Given the description of an element on the screen output the (x, y) to click on. 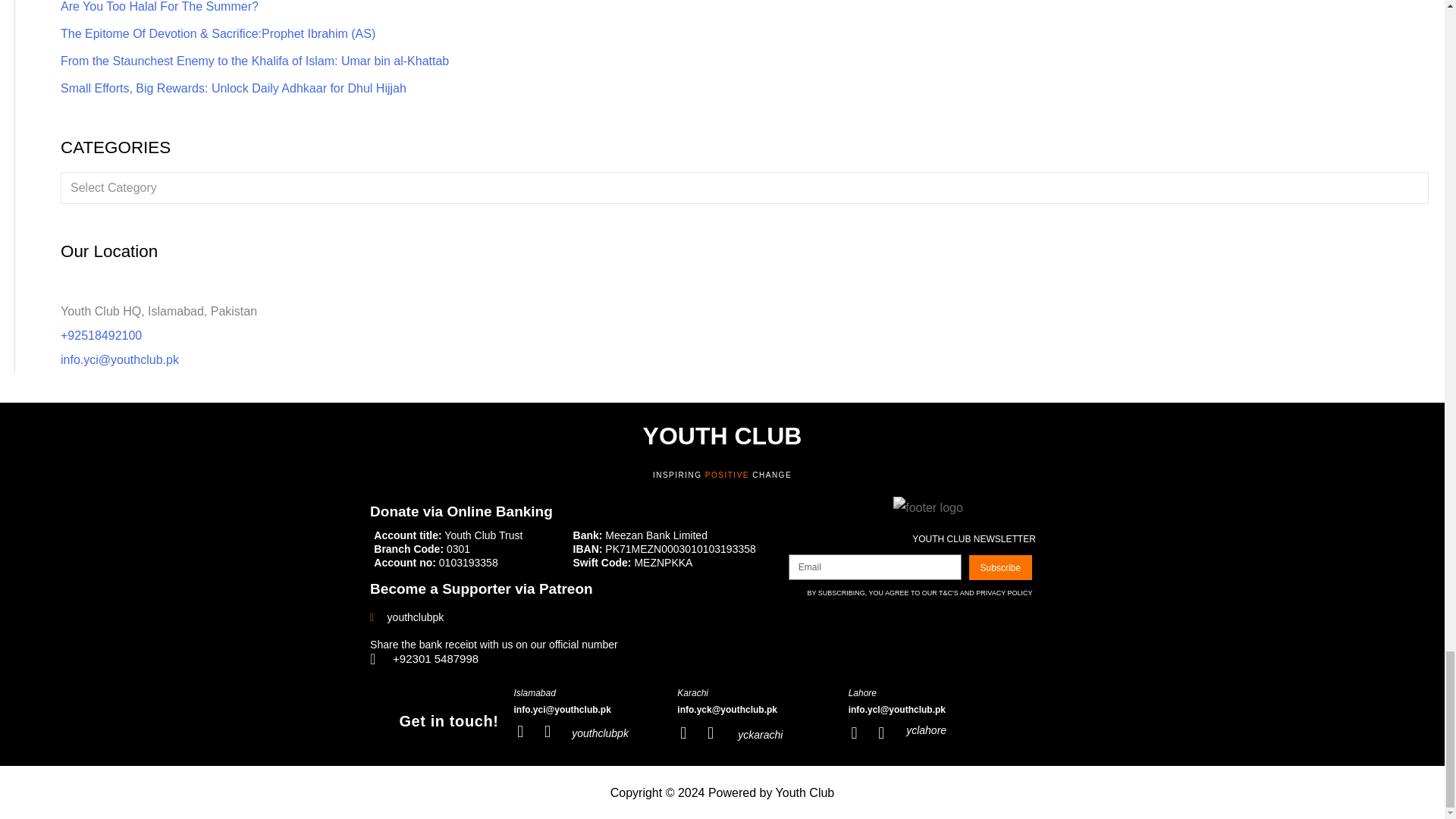
footer logo (927, 507)
